Given the description of an element on the screen output the (x, y) to click on. 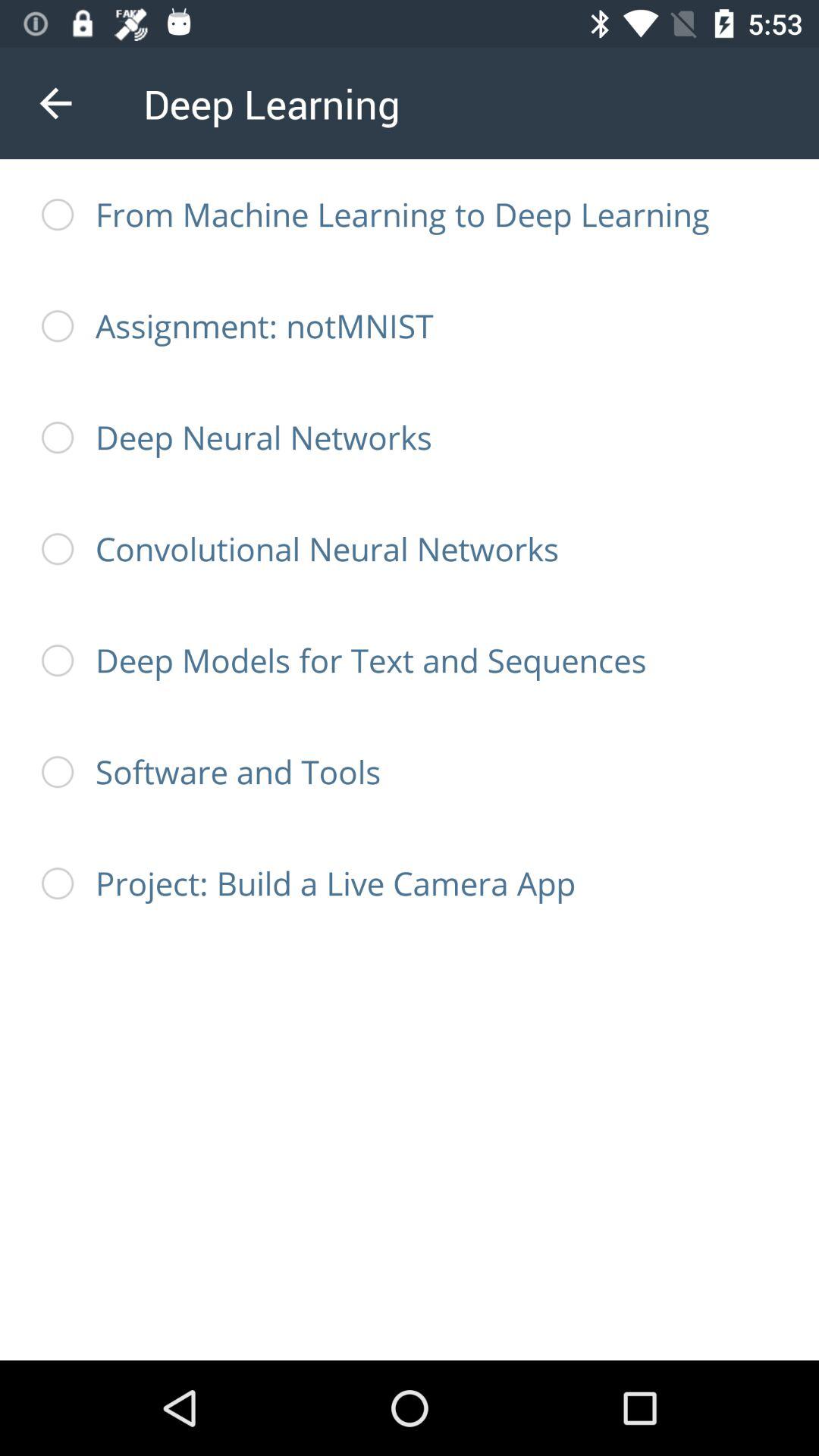
press the item to the left of the deep learning (55, 103)
